Given the description of an element on the screen output the (x, y) to click on. 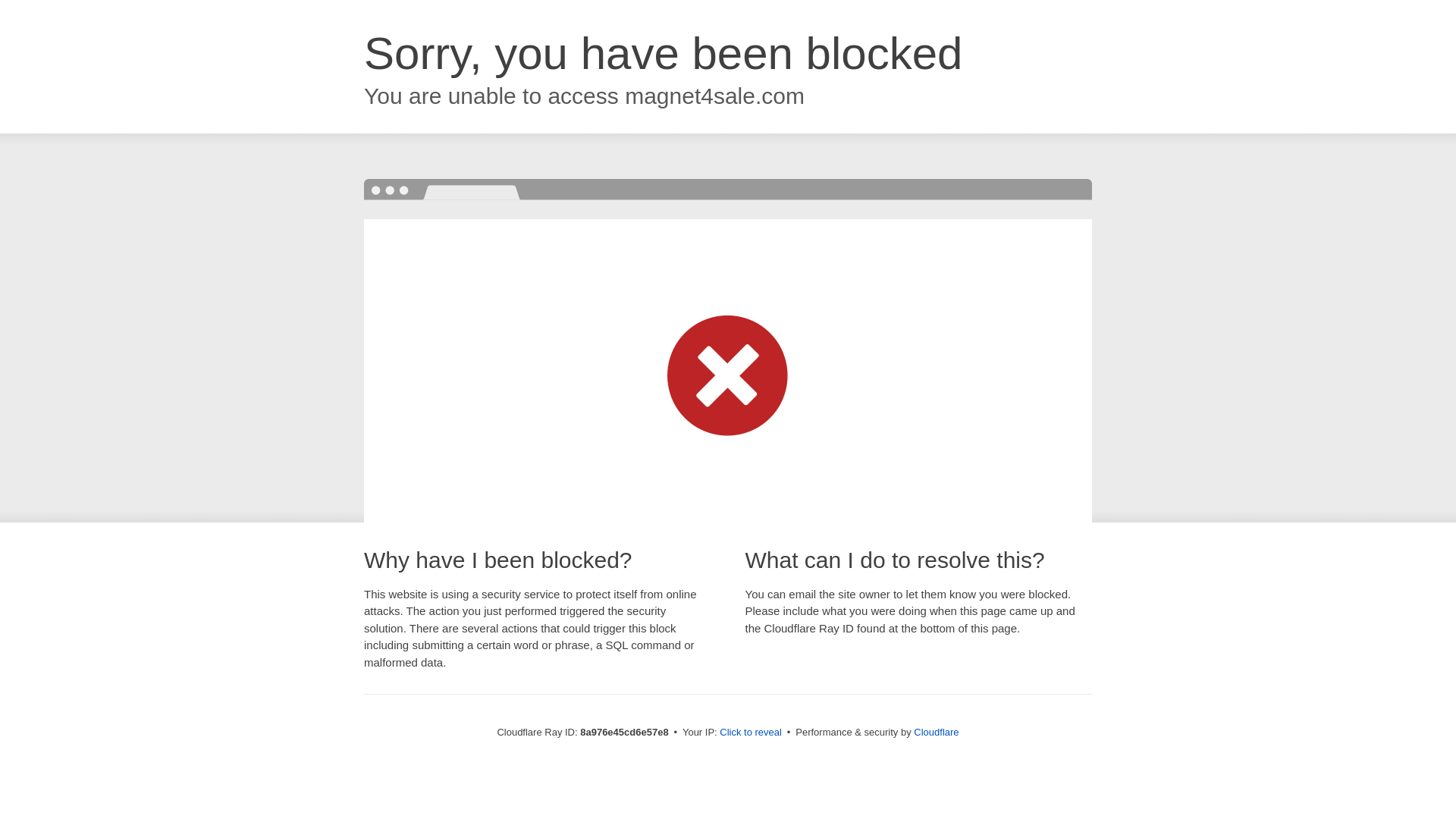
Cloudflare (936, 731)
Click to reveal (750, 732)
